Given the description of an element on the screen output the (x, y) to click on. 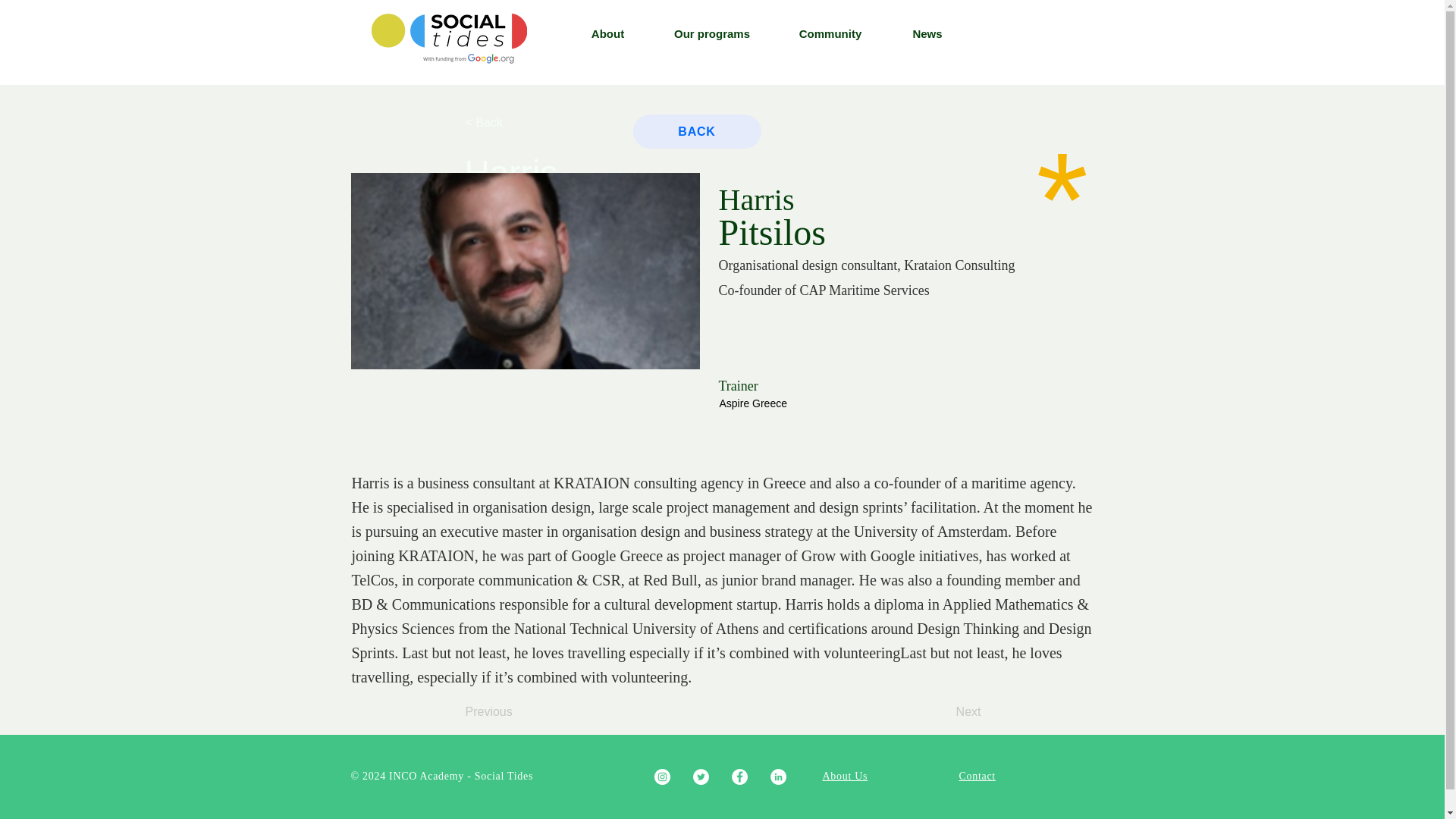
BACK (695, 131)
Contact (976, 775)
Harris Pitsilos.png (524, 270)
News (926, 34)
About Us (844, 775)
Next (943, 711)
Plan de travail 2 copie 30.png (449, 37)
Previous (515, 711)
Our programs (711, 34)
